Given the description of an element on the screen output the (x, y) to click on. 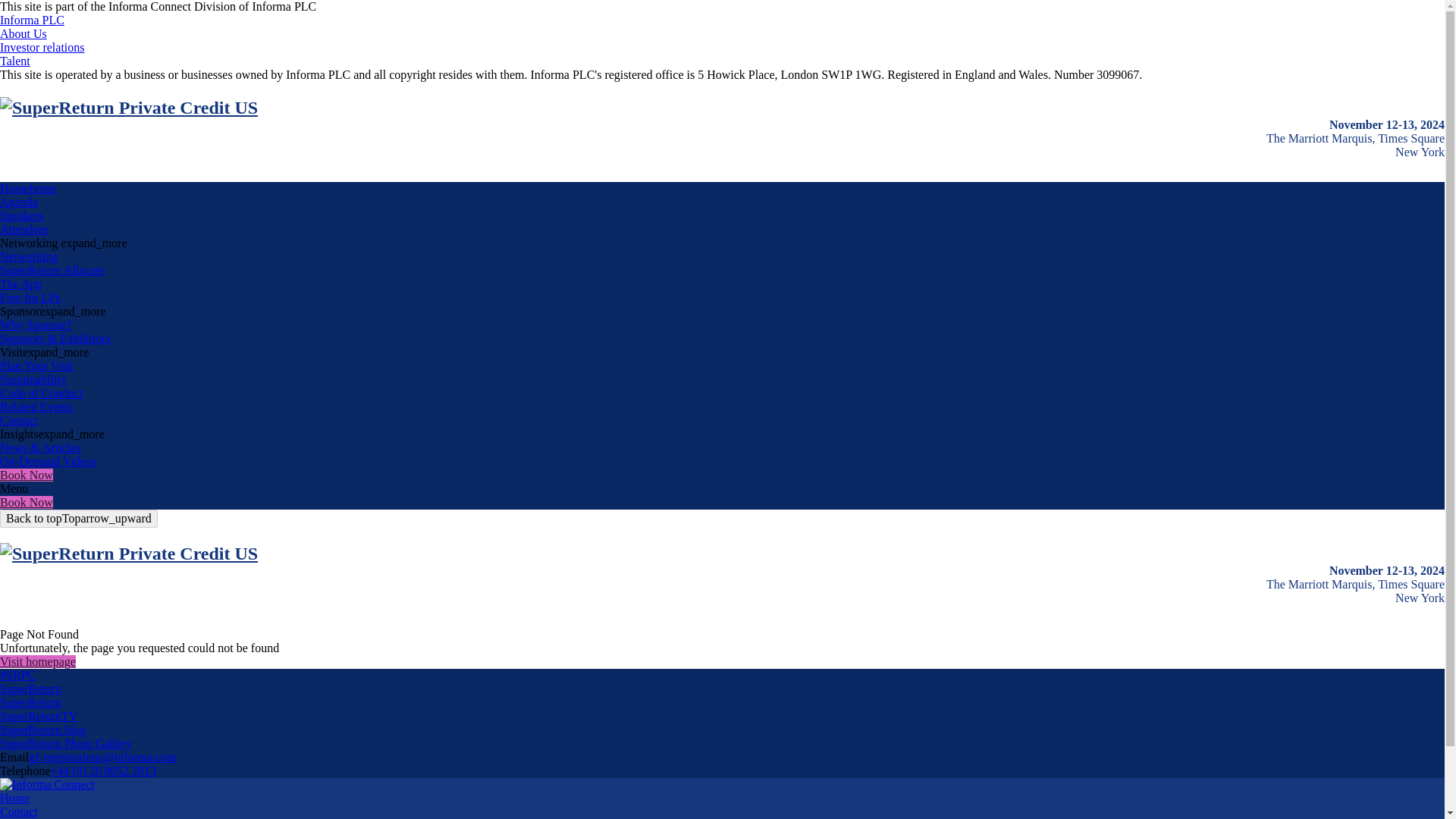
Speakers (21, 215)
Homehome (28, 187)
SuperReturn Allocate (52, 269)
Agenda (18, 201)
Book Now (26, 502)
Investor relations (42, 47)
SuperReturn (30, 702)
Informa PLC (32, 19)
Book Now (26, 474)
SuperReturn blog (42, 729)
